Given the description of an element on the screen output the (x, y) to click on. 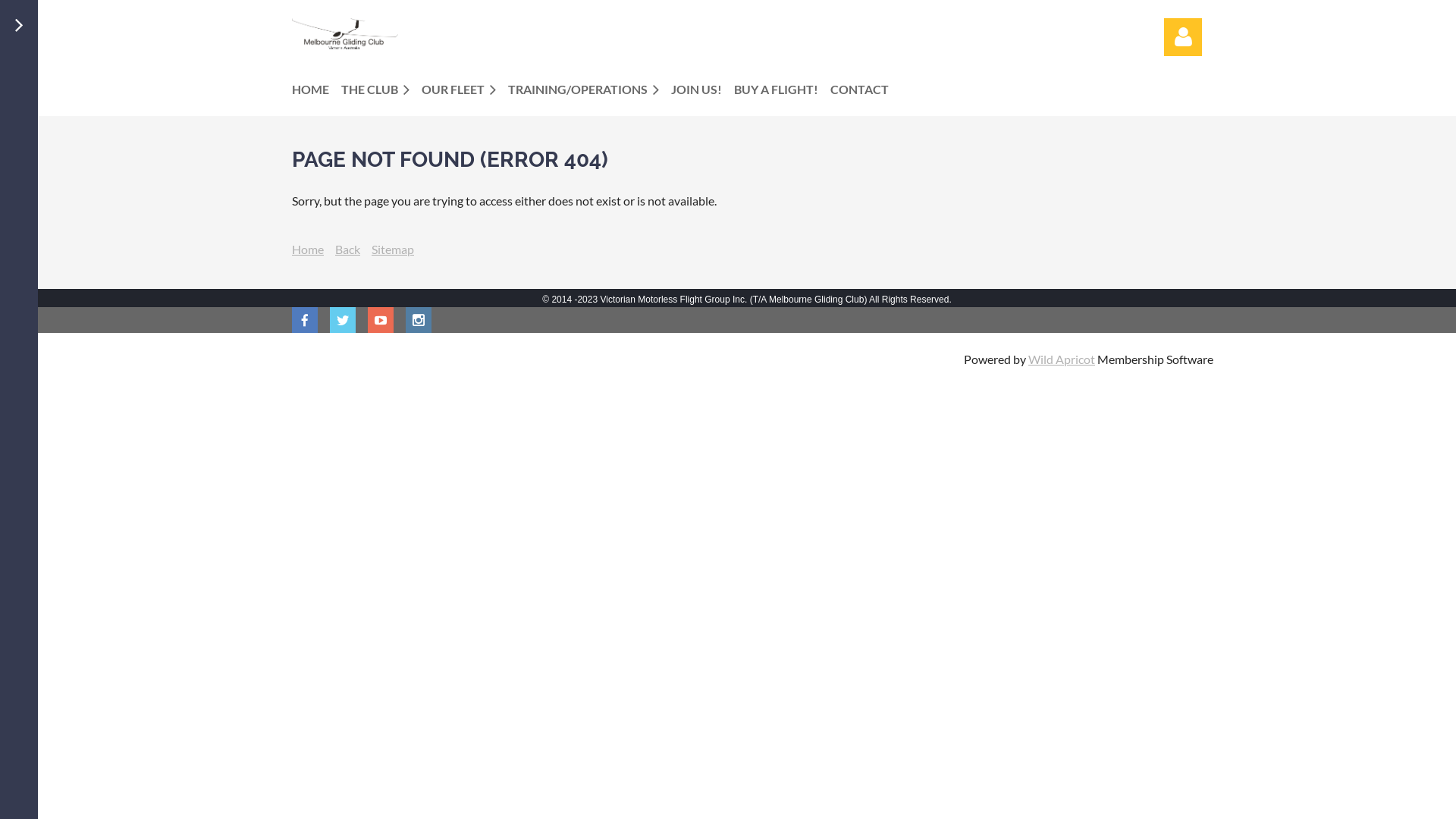
Twitter Element type: hover (342, 319)
YouTube Element type: hover (380, 319)
Sitemap Element type: text (392, 248)
Facebook Element type: hover (304, 319)
Wild Apricot Element type: text (1061, 358)
Log in Element type: text (1182, 37)
HOME Element type: text (316, 88)
Home Element type: text (307, 248)
TRAINING/OPERATIONS Element type: text (589, 88)
Instagram Element type: hover (418, 319)
JOIN US! Element type: text (702, 88)
Back Element type: text (347, 248)
CONTACT Element type: text (865, 88)
BUY A FLIGHT! Element type: text (782, 88)
OUR FLEET Element type: text (464, 88)
THE CLUB Element type: text (381, 88)
